Given the description of an element on the screen output the (x, y) to click on. 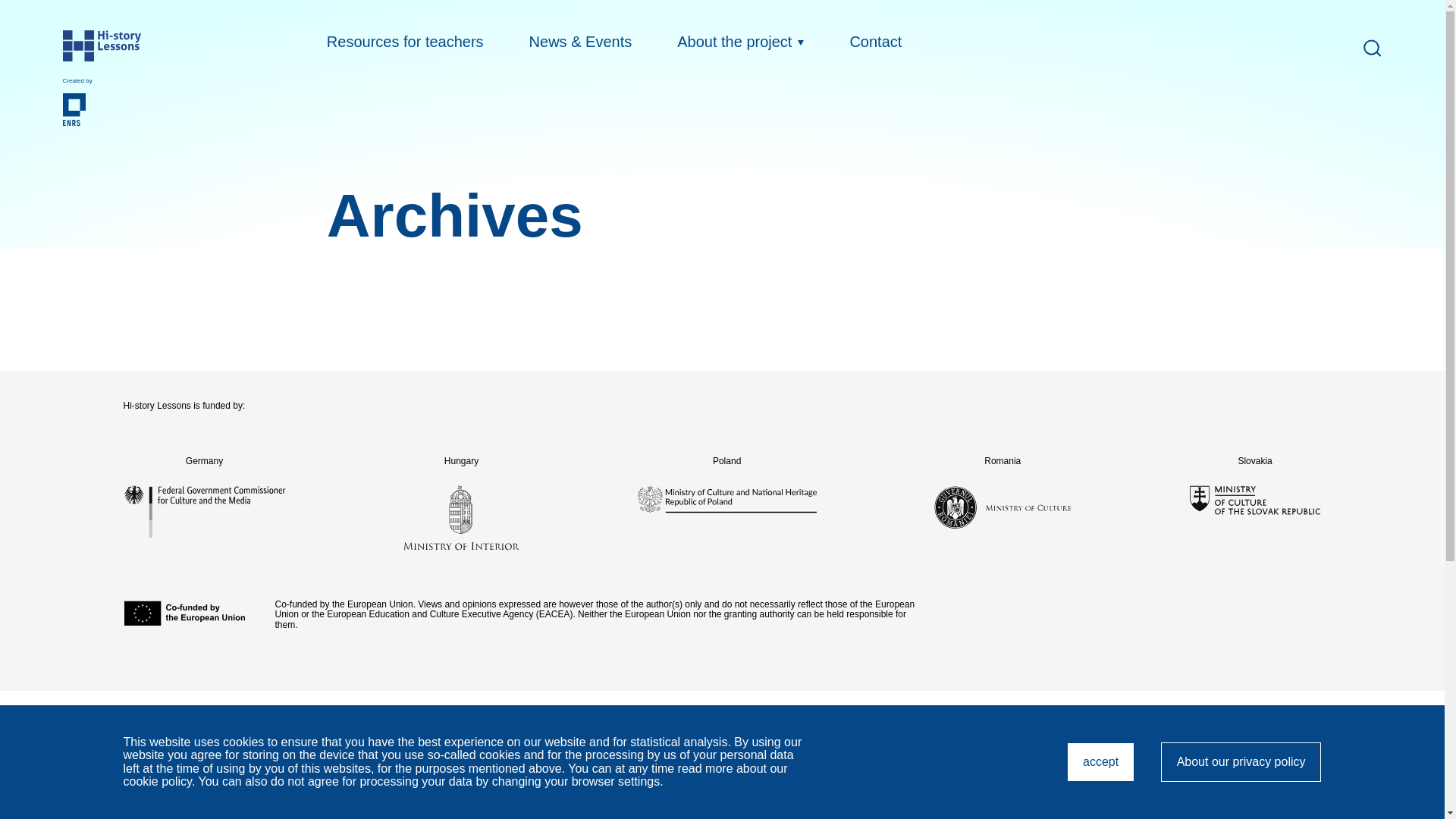
Home page (92, 45)
About the project (740, 41)
European Network Remembrance and Solidarity (721, 773)
Show search (1371, 46)
Contact (874, 41)
European Network Remembrance and Solidarity (1100, 762)
About our privacy policy (92, 109)
Resources for teachers (1241, 762)
